Given the description of an element on the screen output the (x, y) to click on. 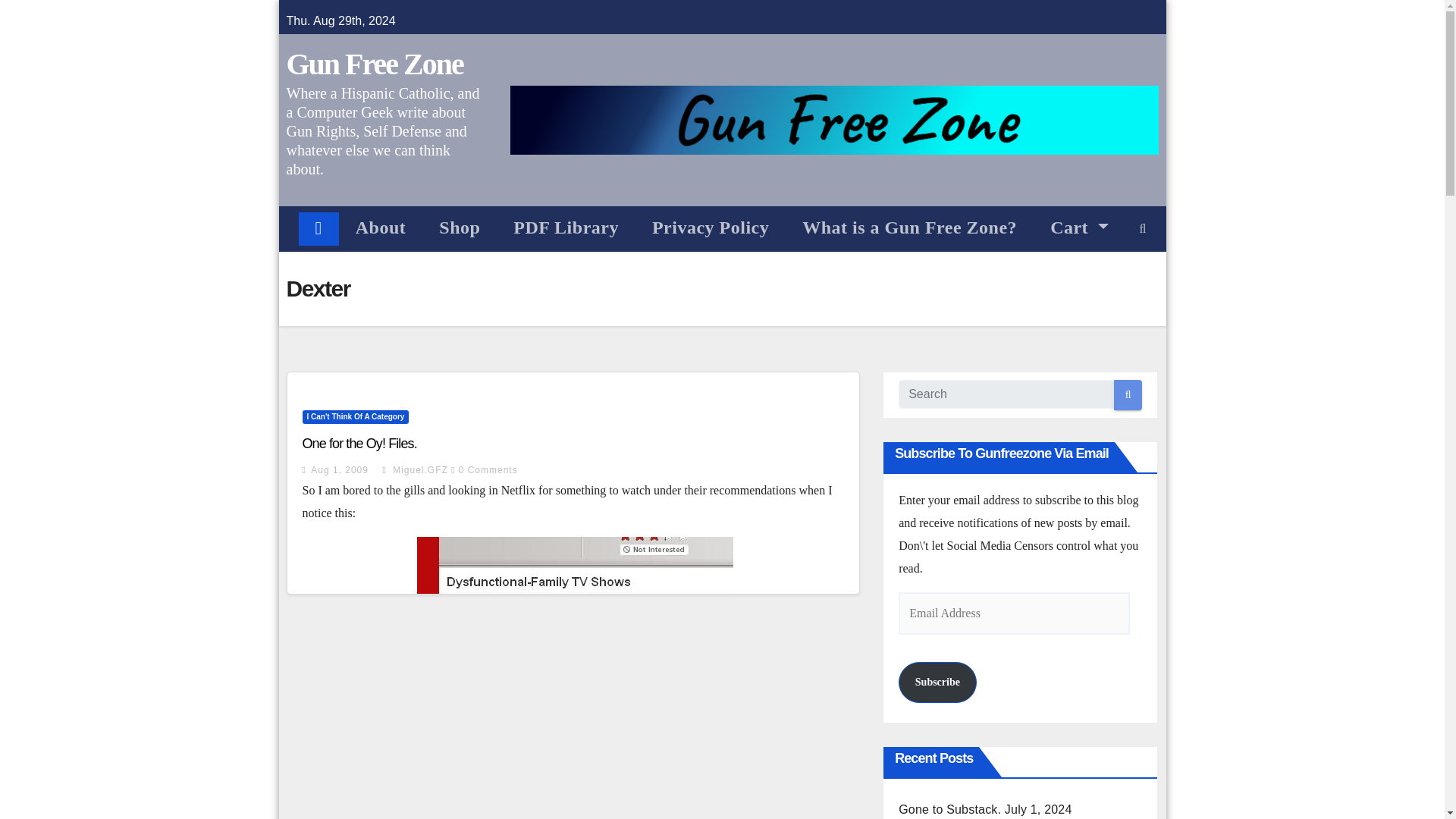
Aug 1, 2009 (339, 470)
PDF Library (565, 227)
Shop (459, 227)
I Can'T Think Of A Category (355, 417)
Miguel.GFZ (413, 470)
One for the Oy! Files. (358, 443)
About (381, 227)
About (381, 227)
Privacy Policy (710, 227)
nextflixdisfunctional1 (574, 678)
